Given the description of an element on the screen output the (x, y) to click on. 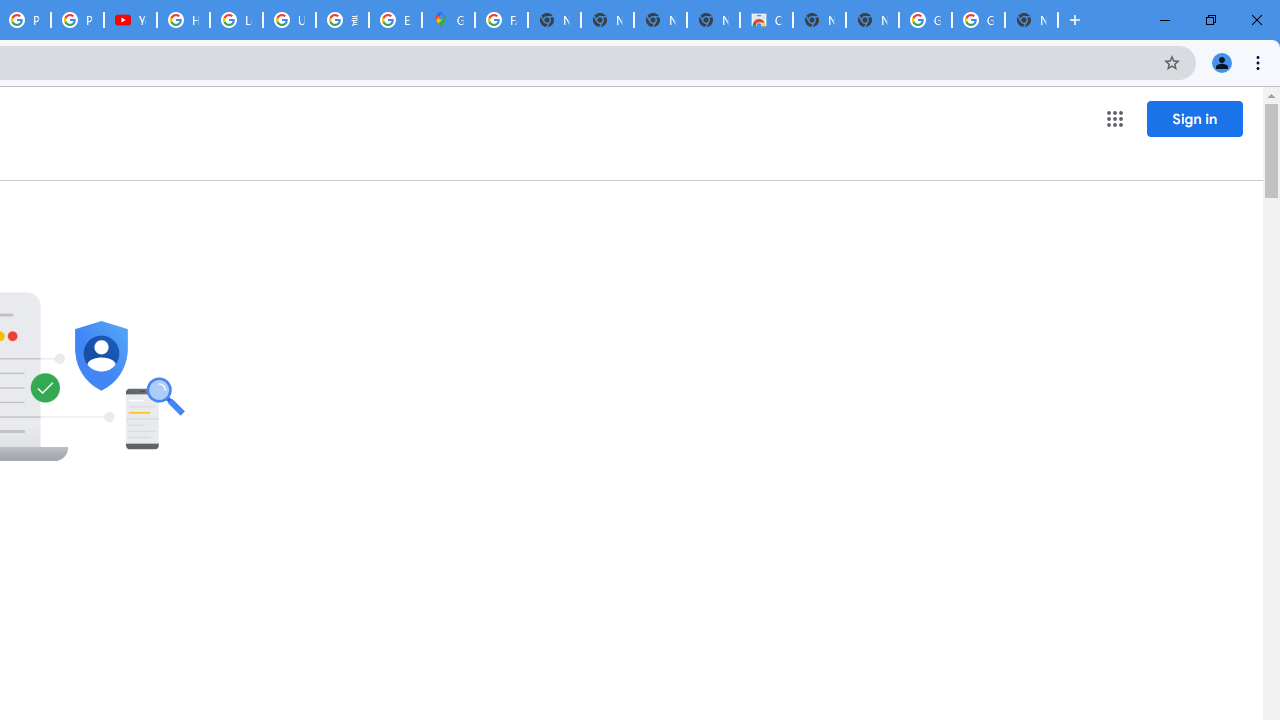
Google Maps (448, 20)
How Chrome protects your passwords - Google Chrome Help (183, 20)
Google Images (925, 20)
